Given the description of an element on the screen output the (x, y) to click on. 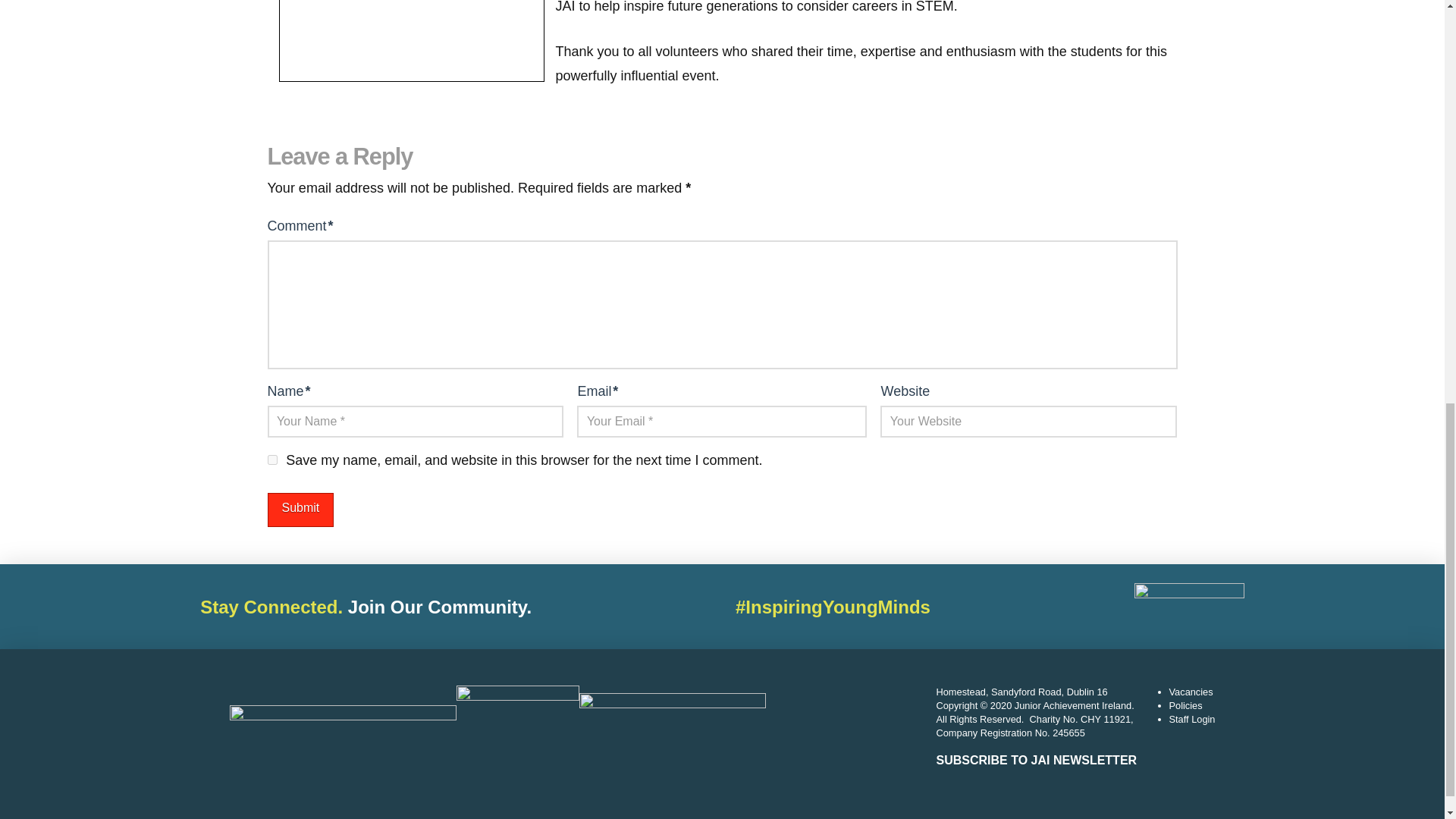
Submit (299, 510)
yes (271, 460)
Submit (299, 510)
